Given the description of an element on the screen output the (x, y) to click on. 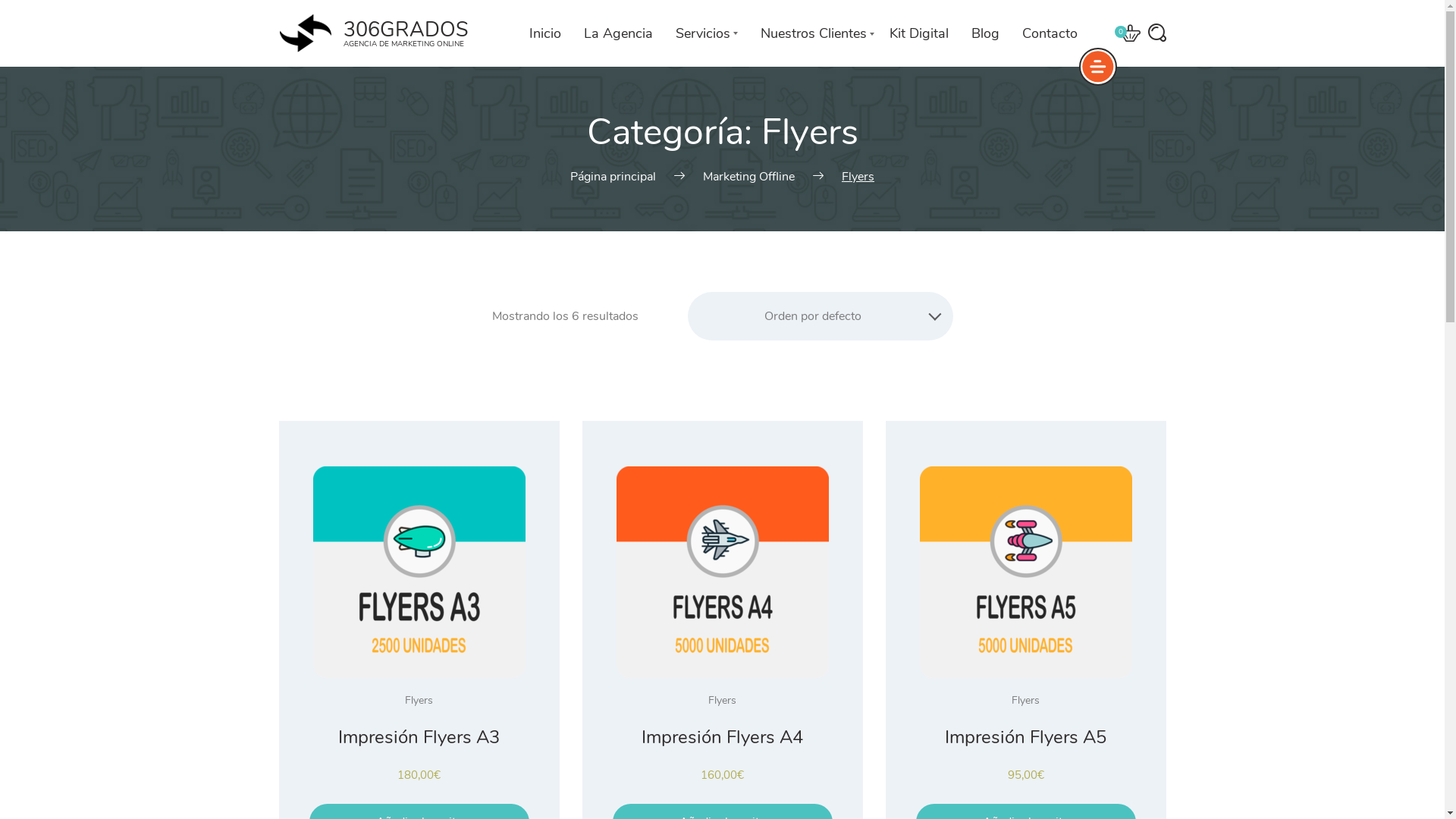
Blog Element type: text (984, 33)
0 Element type: text (1129, 33)
Flyers Element type: text (418, 700)
Flyers Element type: text (722, 700)
Flyers Element type: text (1025, 700)
Ver su carrito de compras Element type: hover (1129, 33)
Nuestros Clientes Element type: text (812, 33)
La Agencia Element type: text (617, 33)
Inicio Element type: text (545, 33)
Servicios Element type: text (705, 33)
Contacto Element type: text (1049, 33)
Marketing Offline Element type: text (748, 176)
Kit Digital Element type: text (917, 33)
